Given the description of an element on the screen output the (x, y) to click on. 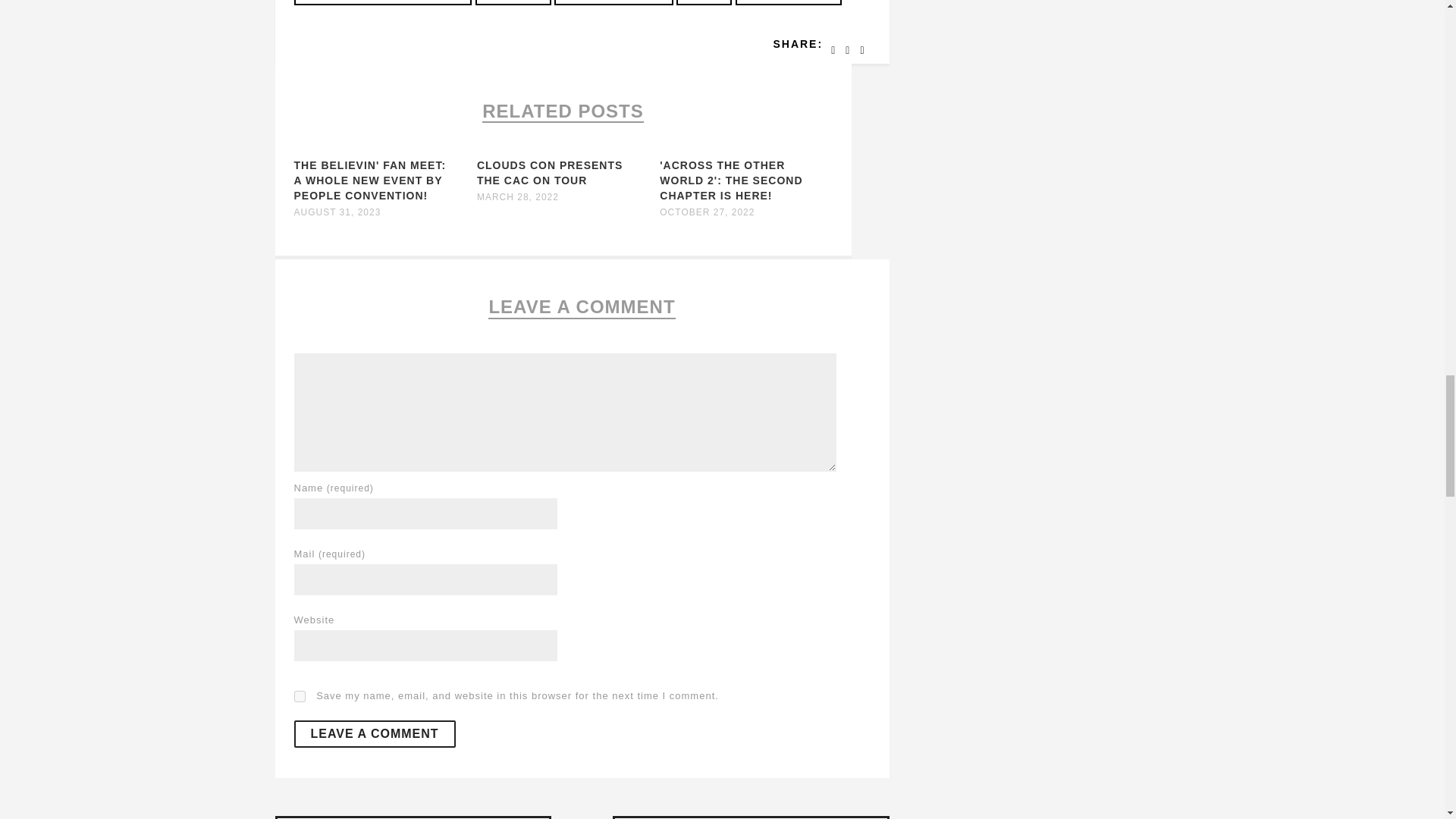
Leave a Comment (374, 733)
Permanent Link to Clouds Con presents the CAC On Tour (550, 172)
yes (299, 696)
